Given the description of an element on the screen output the (x, y) to click on. 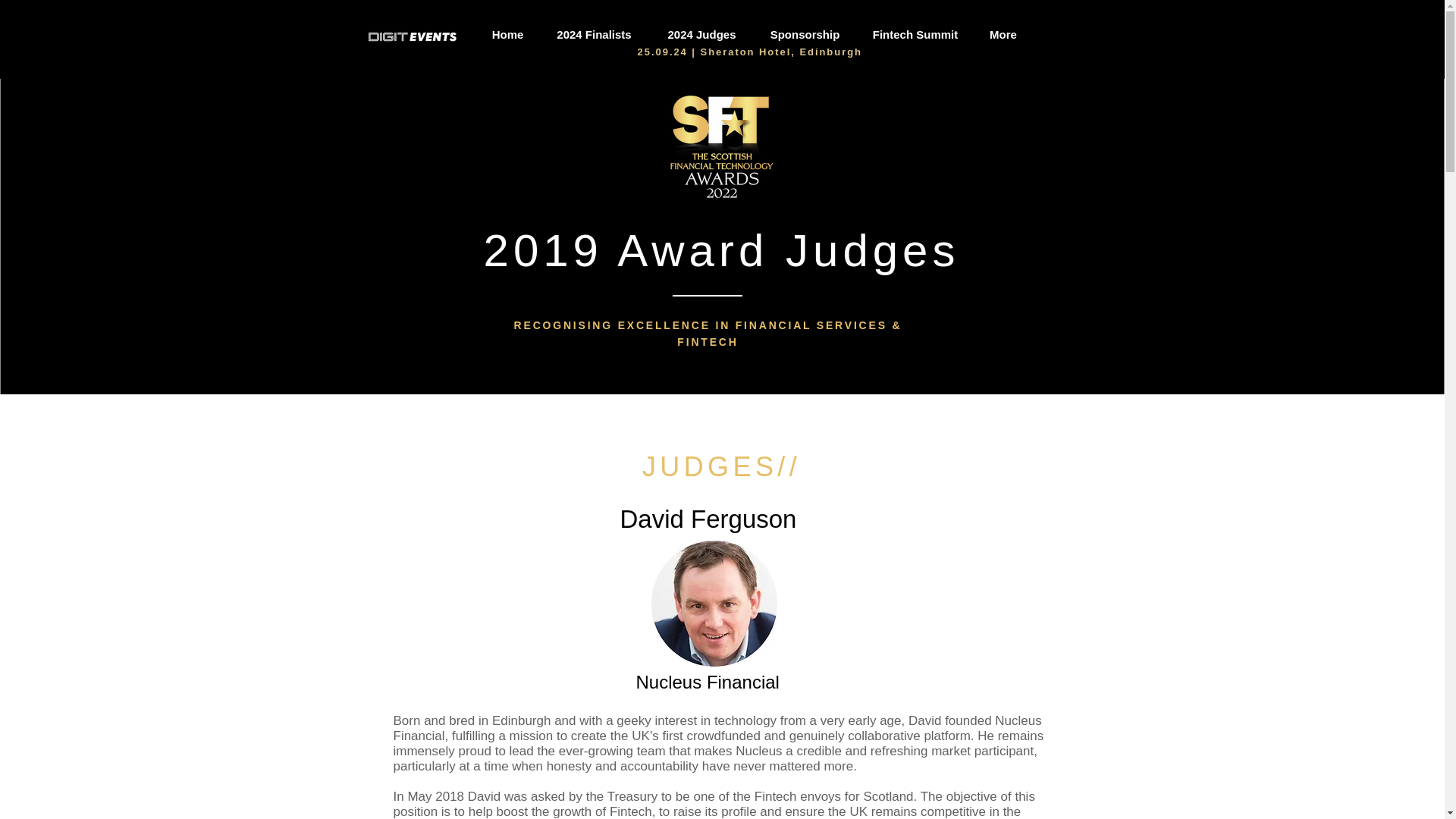
2024 Finalists (593, 34)
2024 Judges (701, 34)
Sponsorship (805, 34)
Fintech Summit (915, 34)
Home (507, 34)
